Given the description of an element on the screen output the (x, y) to click on. 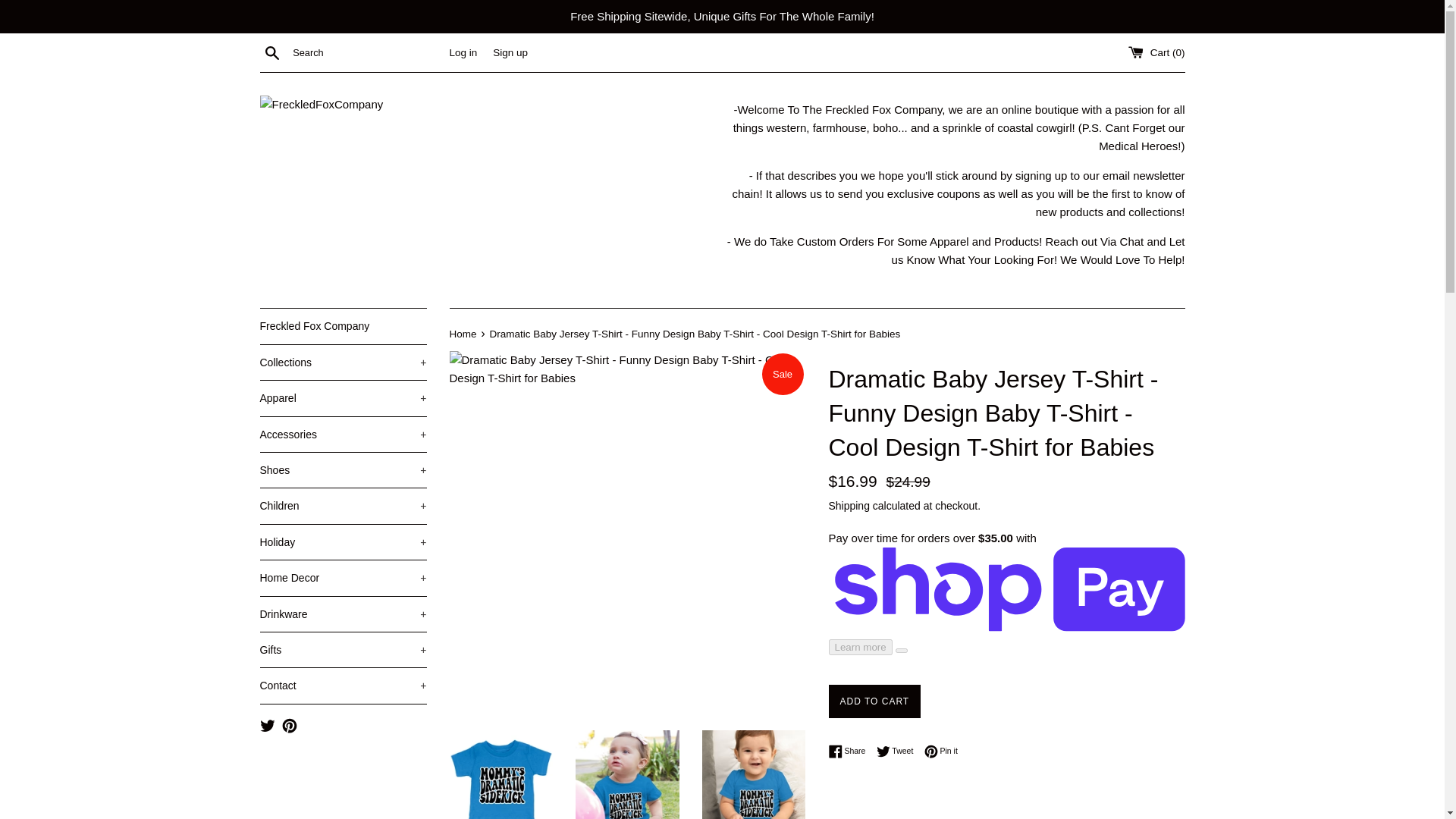
Pin on Pinterest (941, 751)
FreckledFoxCompany on Pinterest (289, 724)
FreckledFoxCompany on Twitter (267, 724)
Log in (462, 52)
Sign up (510, 52)
Search (271, 52)
Freckled Fox Company (342, 325)
Back to the frontpage (463, 333)
Share on Facebook (850, 751)
Tweet on Twitter (898, 751)
